Given the description of an element on the screen output the (x, y) to click on. 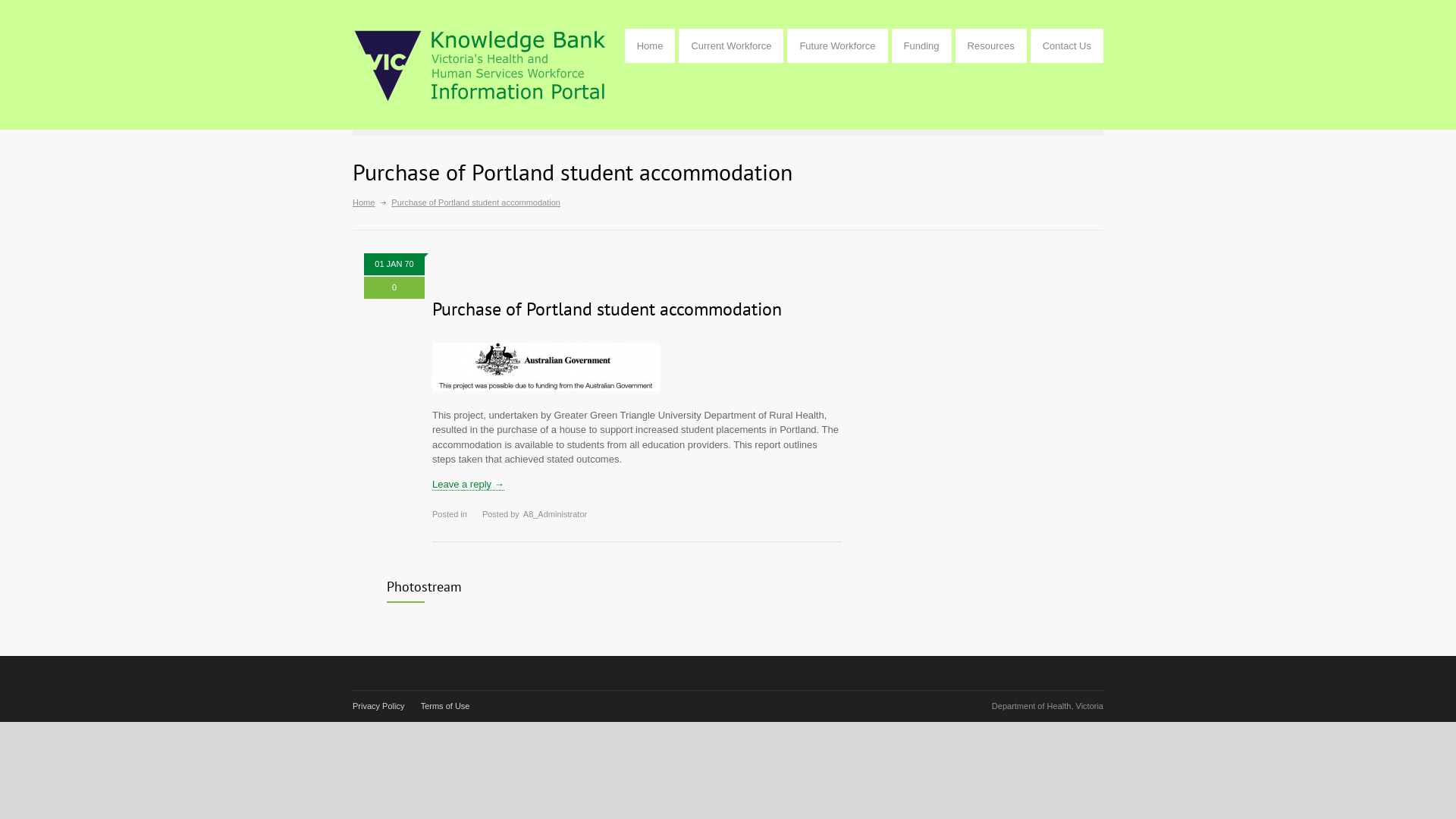
Home Element type: text (363, 202)
Purchase of Portland student accommodation Element type: text (606, 308)
Resources Element type: text (990, 45)
Terms of Use Element type: text (445, 705)
Current Workforce Element type: text (730, 45)
0 Element type: text (394, 287)
Contact Us Element type: text (1066, 45)
Funding Element type: text (921, 45)
Privacy Policy Element type: text (378, 705)
Home Element type: text (649, 45)
Future Workforce Element type: text (837, 45)
